Given the description of an element on the screen output the (x, y) to click on. 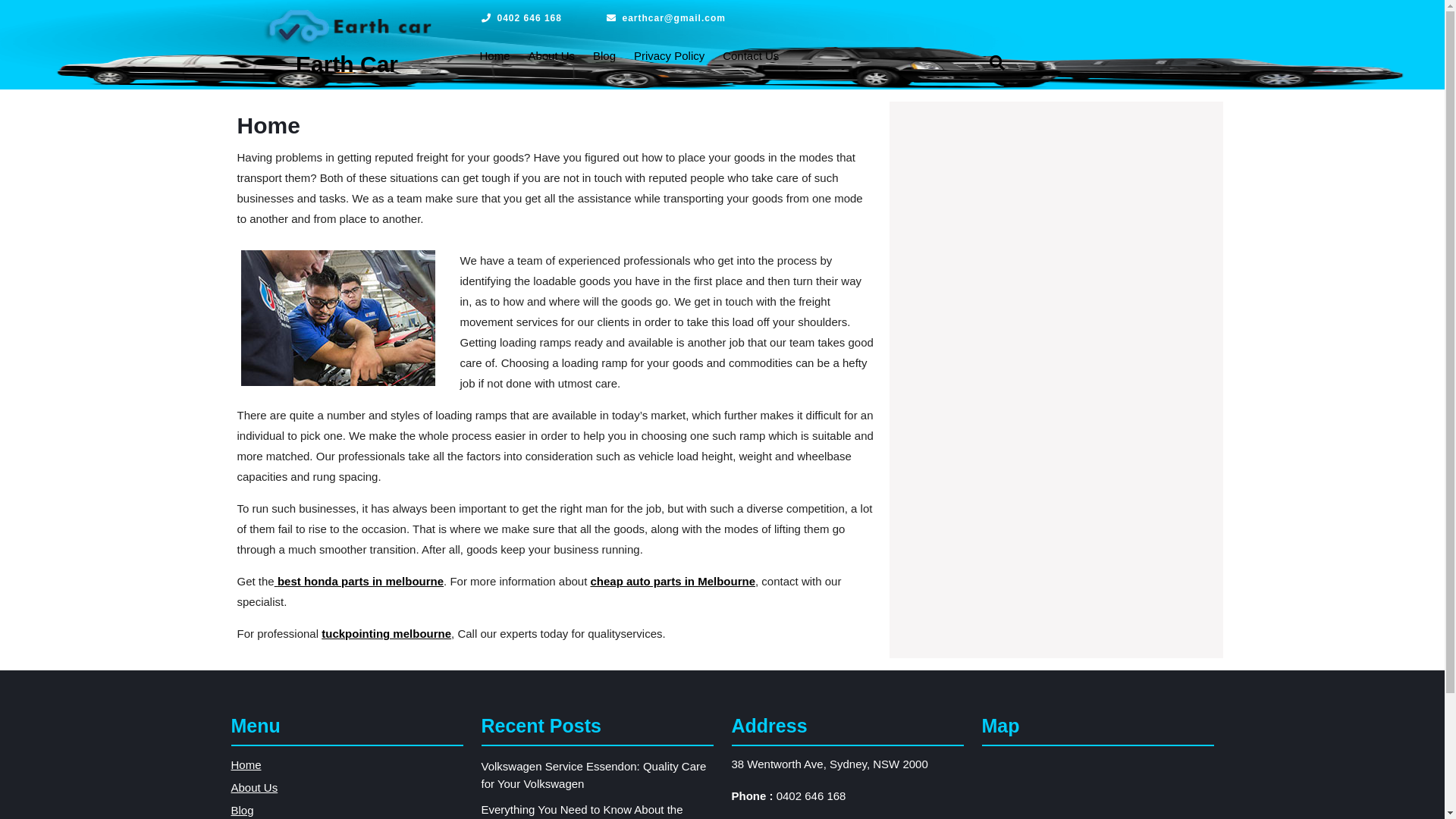
Contact Us Element type: text (750, 56)
0402 646 168
Phone Number Element type: text (520, 17)
Earth Car Element type: text (346, 63)
Home Element type: text (494, 56)
Blog Element type: text (241, 809)
About Us Element type: text (253, 787)
Home Element type: text (245, 764)
best honda parts in melbourne Element type: text (360, 580)
Privacy Policy Element type: text (669, 56)
Blog Element type: text (604, 56)
cheap auto parts in Melbourne Element type: text (672, 580)
earthcar@gmail.com
Email Element type: text (665, 17)
tuckpointing melbourne Element type: text (386, 633)
About Us Element type: text (551, 56)
